Given the description of an element on the screen output the (x, y) to click on. 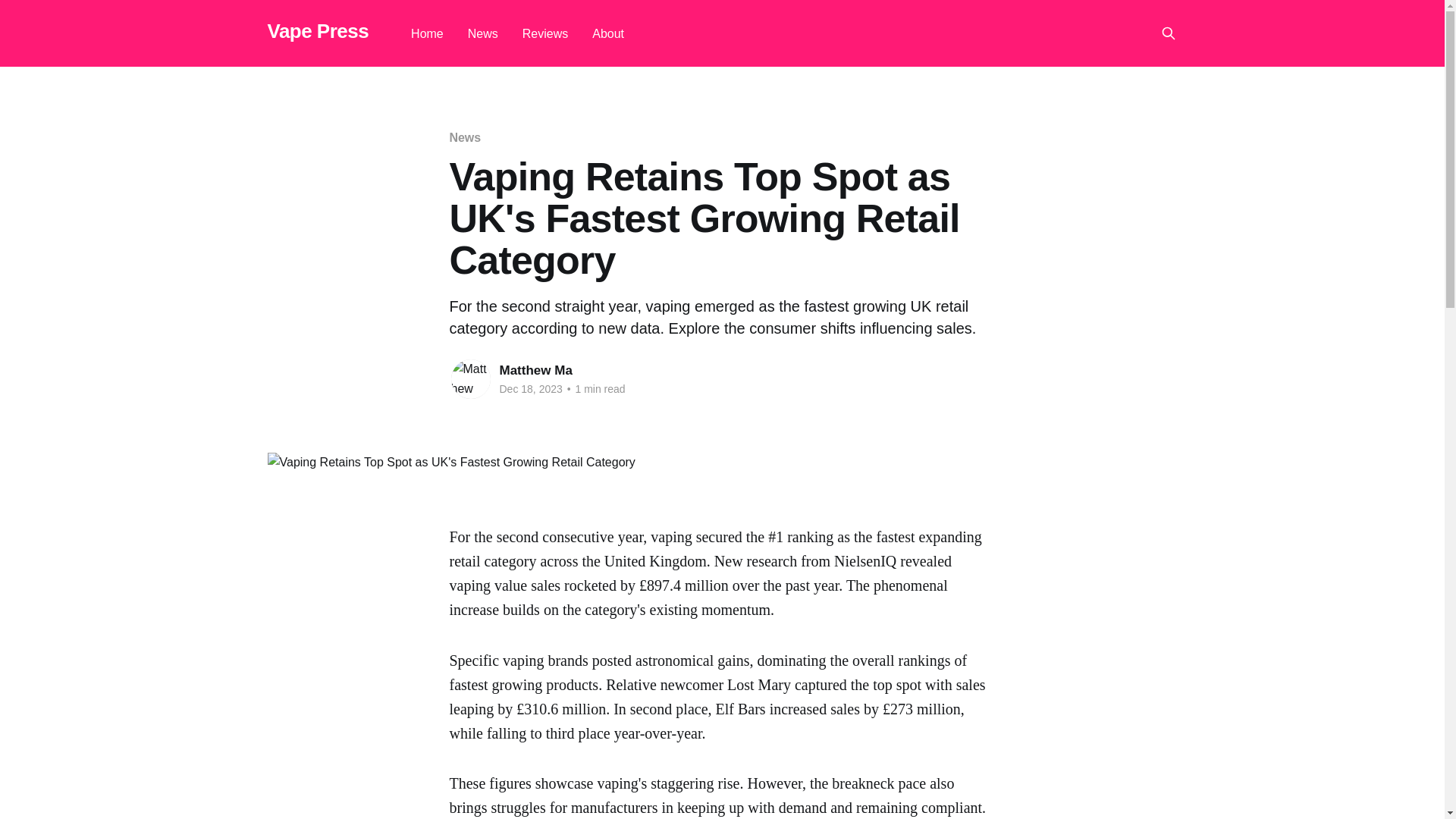
Reviews (544, 33)
News (464, 137)
Matthew Ma (535, 370)
Home (427, 33)
News (482, 33)
About (608, 33)
Vape Press (317, 31)
